Given the description of an element on the screen output the (x, y) to click on. 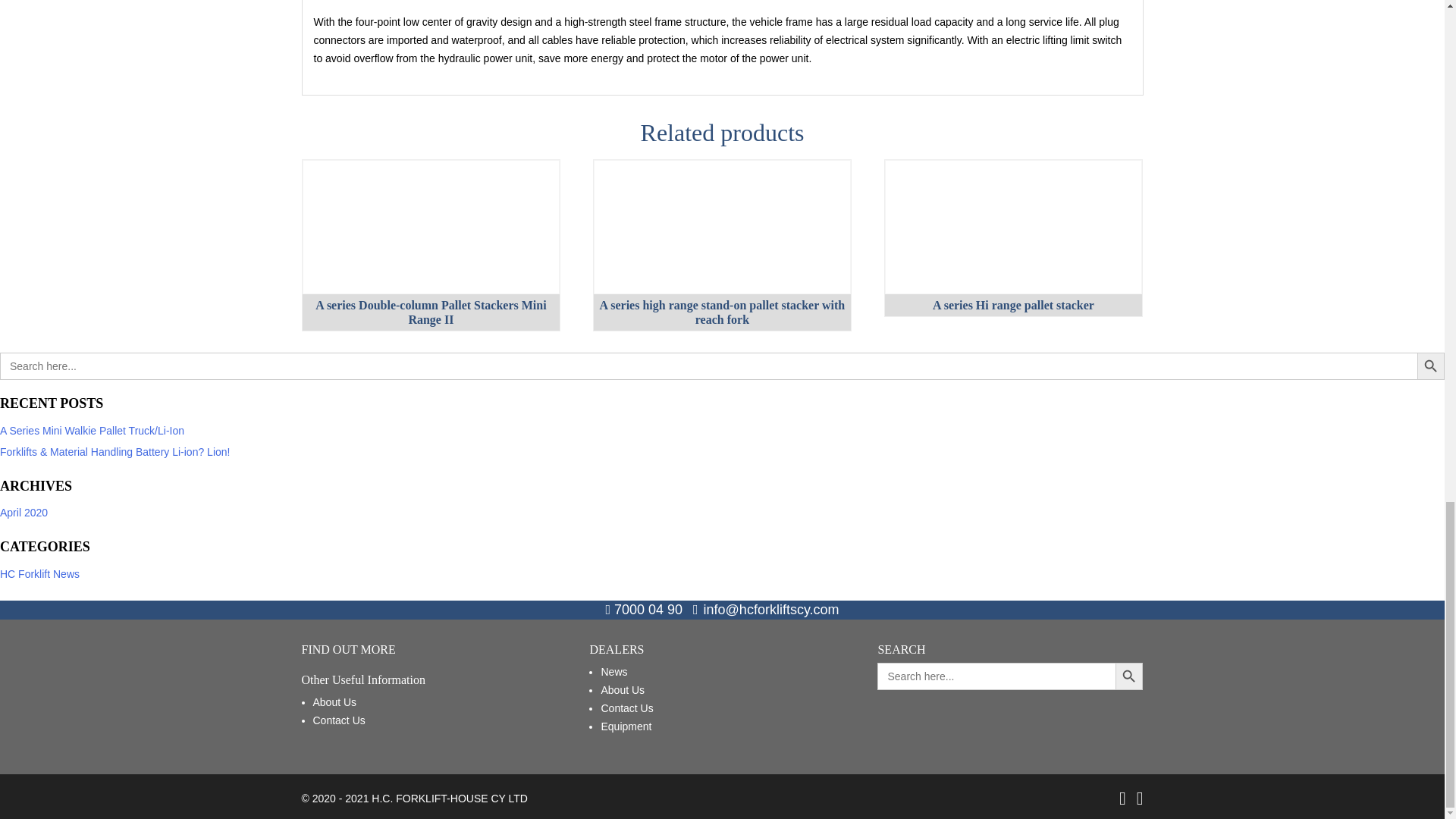
A series Double-column Pallet Stackers Mini Range II (431, 226)
A series high range stand-on pallet stacker with reach fork (722, 226)
A series Hi range pallet stacker (1013, 226)
